Given the description of an element on the screen output the (x, y) to click on. 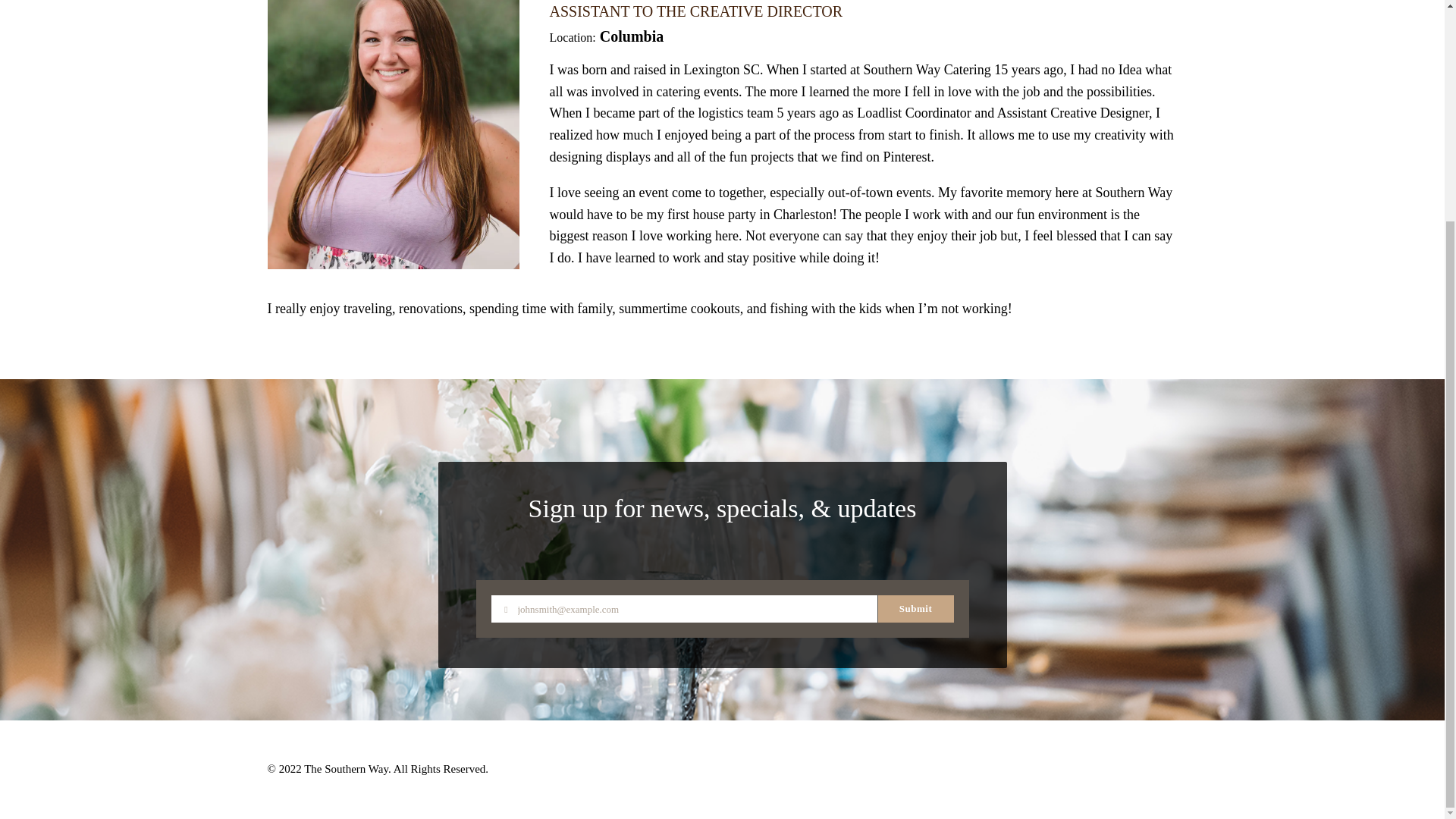
Submit (915, 608)
Kristin-Watts (392, 134)
Submit (574, 295)
